Given the description of an element on the screen output the (x, y) to click on. 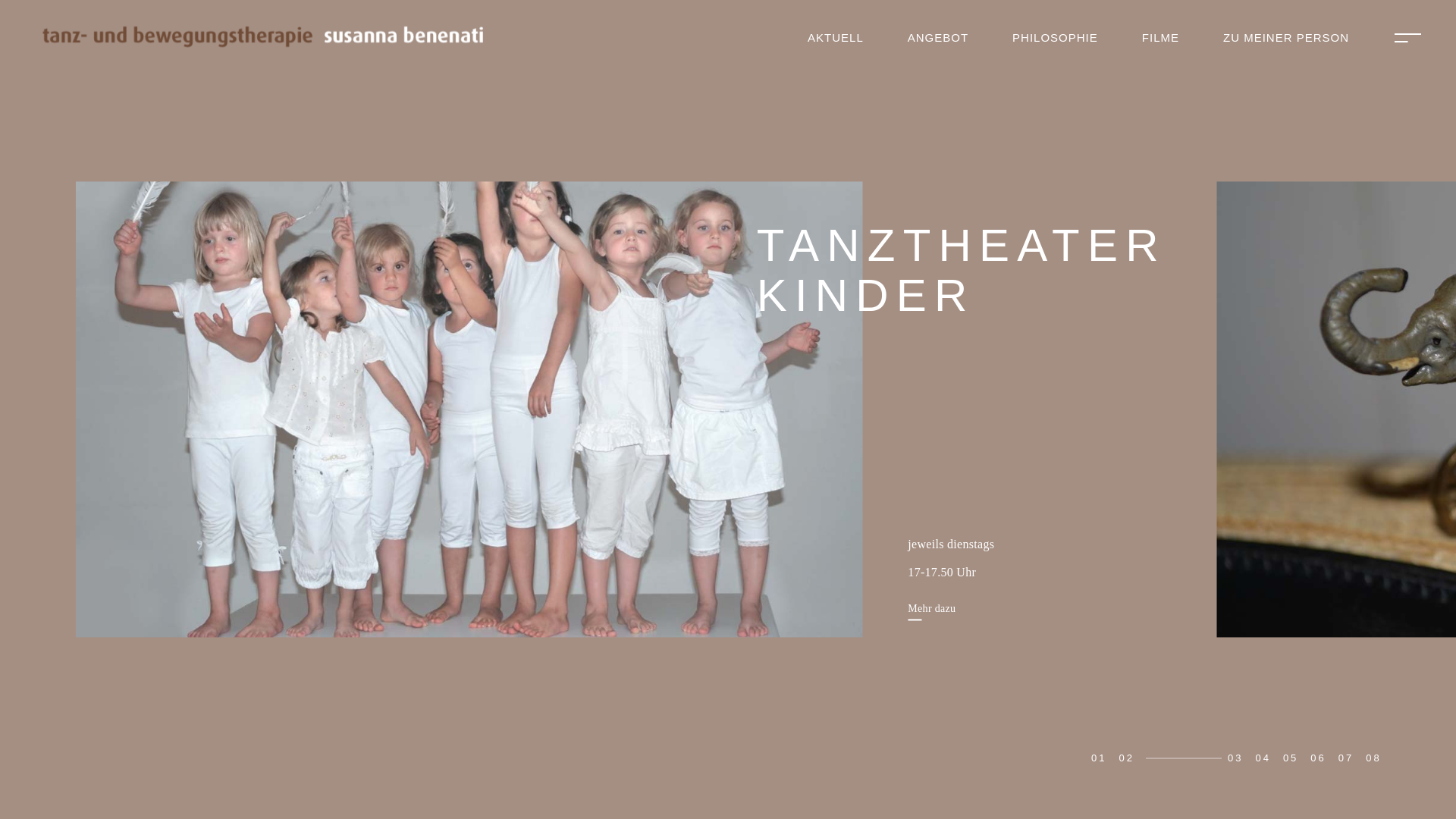
ANGEBOT Element type: text (937, 37)
AKTUELL Element type: text (835, 37)
Mehr dazu Element type: text (931, 613)
ZU MEINER PERSON Element type: text (1286, 37)
TANZTHEATER KINDER Element type: text (964, 270)
PHILOSOPHIE Element type: text (1055, 37)
FILME Element type: text (1160, 37)
